Given the description of an element on the screen output the (x, y) to click on. 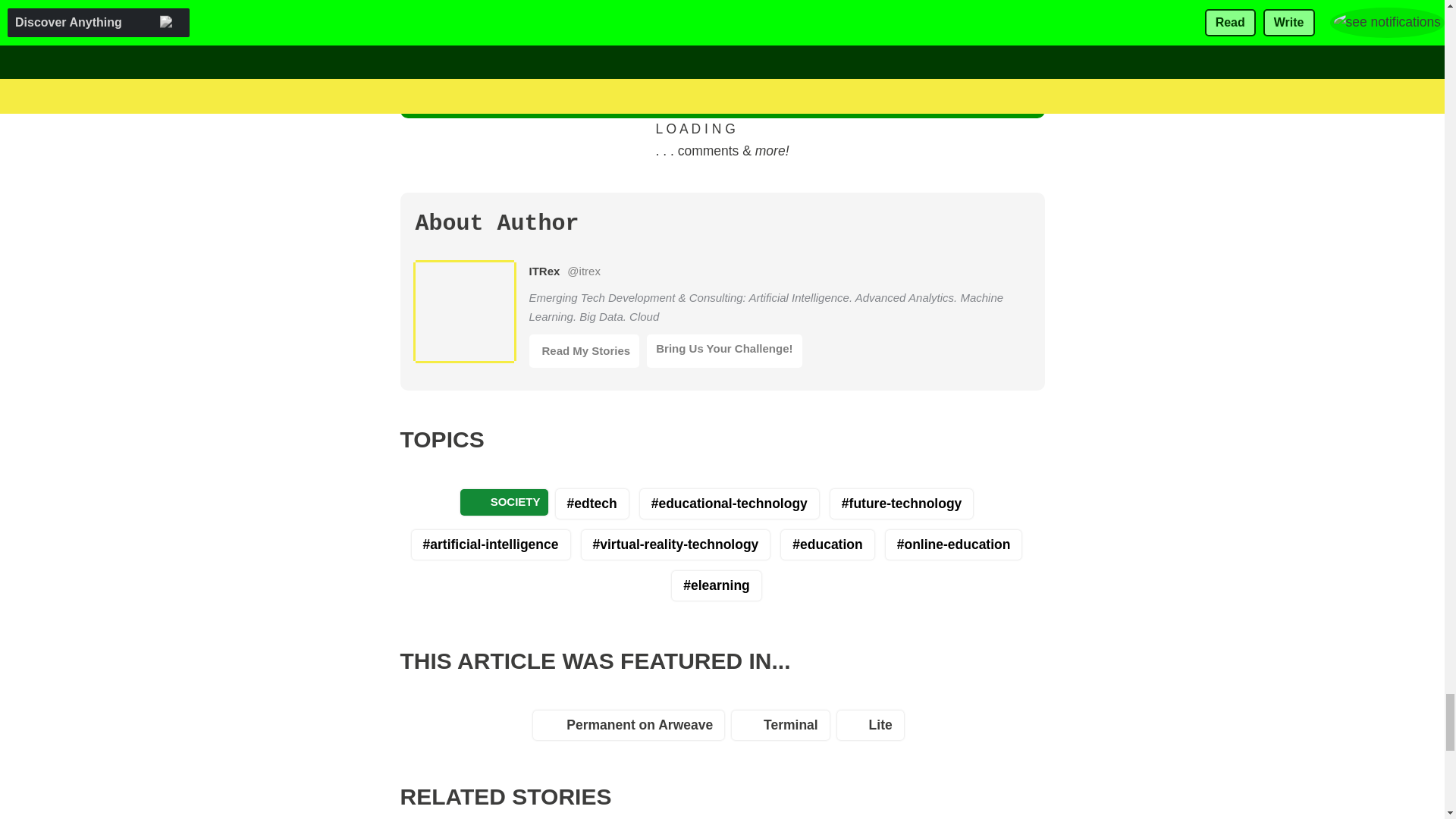
Read My Stories (584, 350)
SOCIETY (504, 501)
Bring Us Your Challenge! (724, 350)
